Given the description of an element on the screen output the (x, y) to click on. 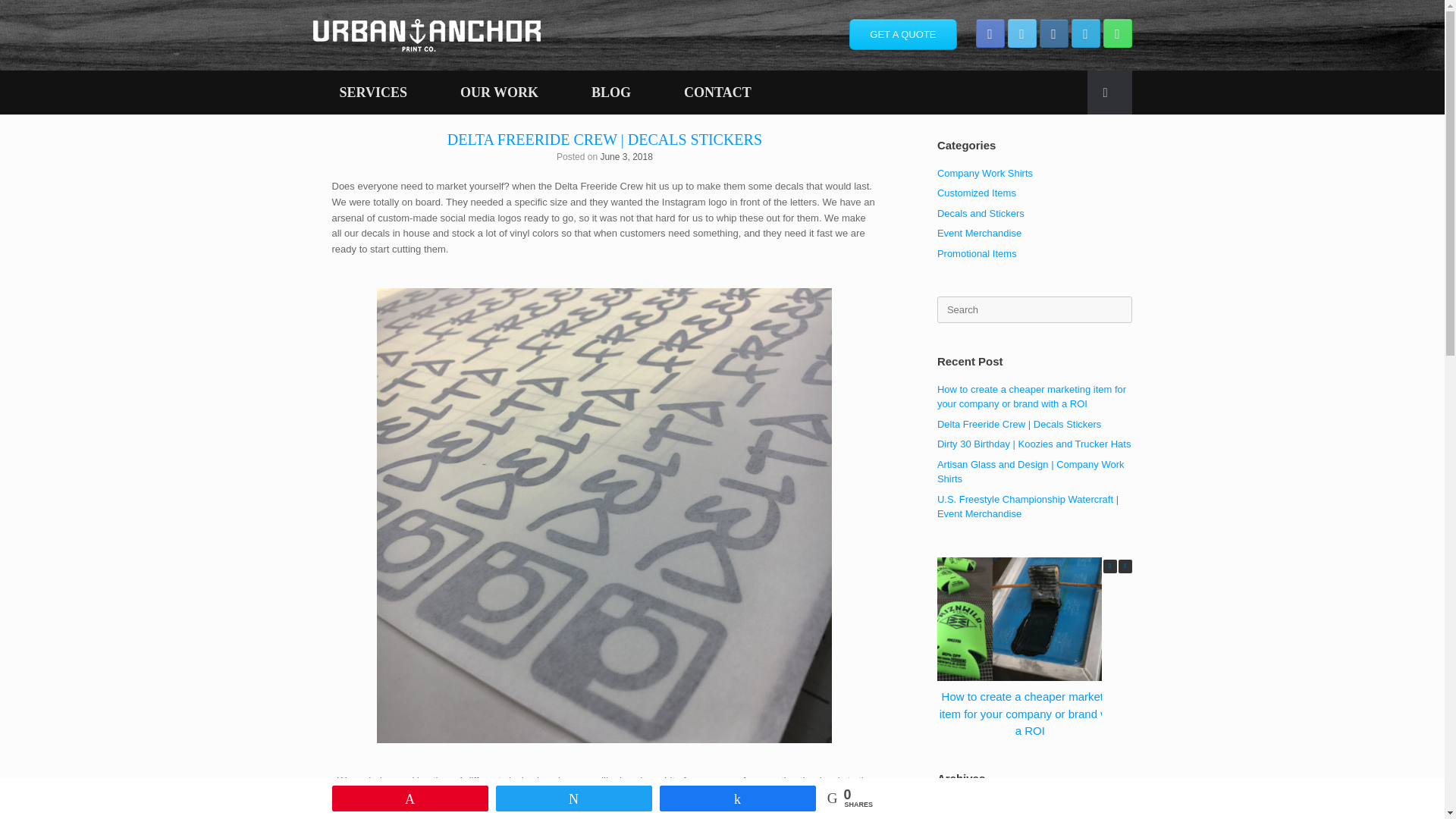
GET A QUOTE (902, 33)
Get a quote (902, 33)
Urban Anchor Print Co. Instagram (1053, 32)
Urban Anchor Print Co. Phone (1116, 32)
Event Merchandise (979, 233)
Urban Anchor Print Co. Facebook (989, 32)
12:20 am (625, 156)
Previous (1109, 566)
Urban Anchor Print Co. Twitter (1021, 32)
Decals and Stickers (981, 213)
OUR WORK (498, 92)
Customized Items (976, 193)
Urban Anchor Print Co. (426, 35)
Urban Anchor Print Co. Email (1084, 32)
Next (1124, 566)
